Given the description of an element on the screen output the (x, y) to click on. 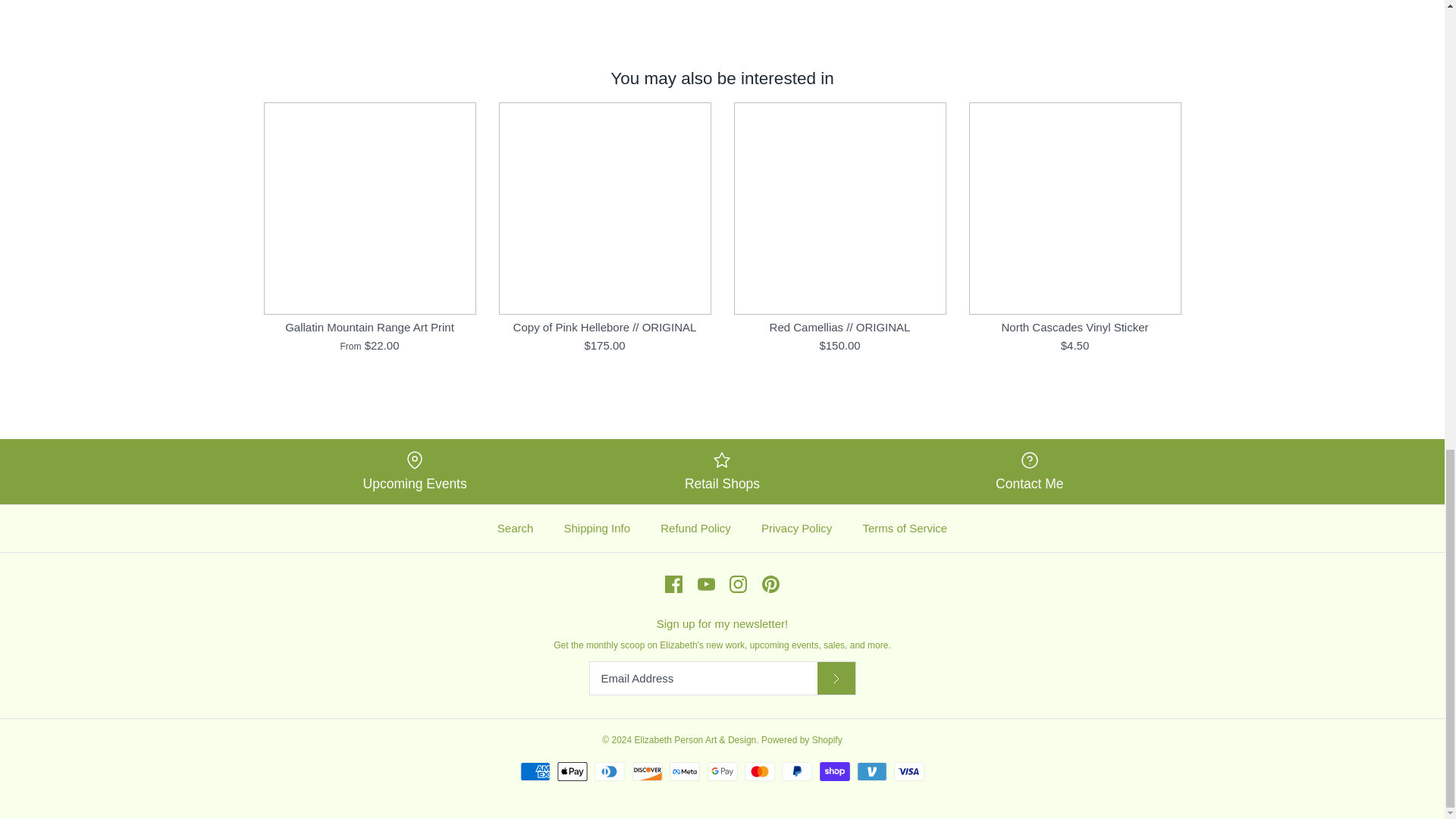
Youtube (705, 583)
Pinterest (769, 583)
Facebook (673, 583)
Instagram (737, 583)
Instagram (737, 583)
Youtube (705, 583)
Apple Pay (572, 771)
Facebook (673, 583)
American Express (534, 771)
Pinterest (769, 583)
